Given the description of an element on the screen output the (x, y) to click on. 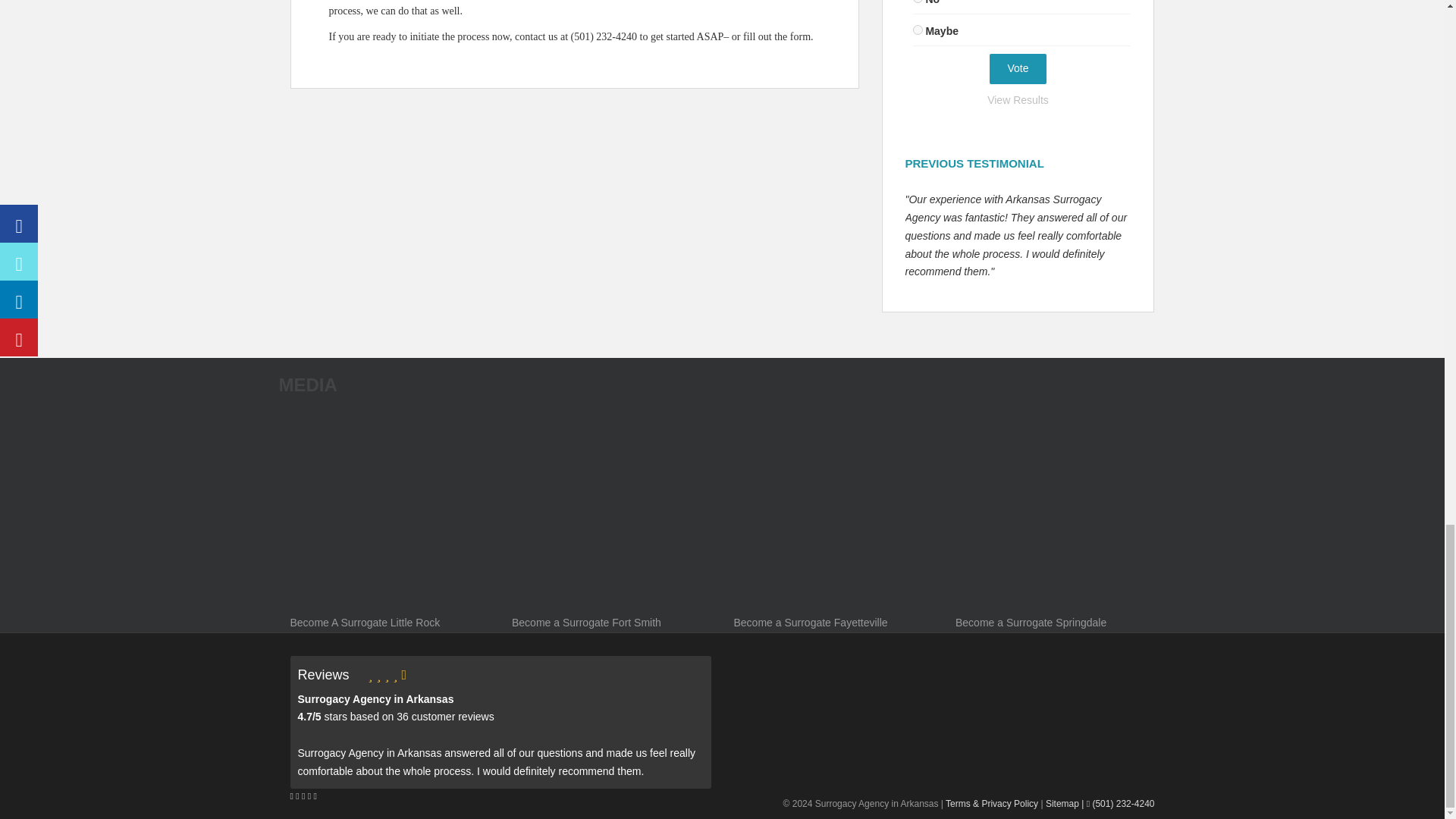
View Results Of This Poll (1017, 100)
   Vote    (1018, 69)
30 (917, 30)
29 (917, 1)
